Given the description of an element on the screen output the (x, y) to click on. 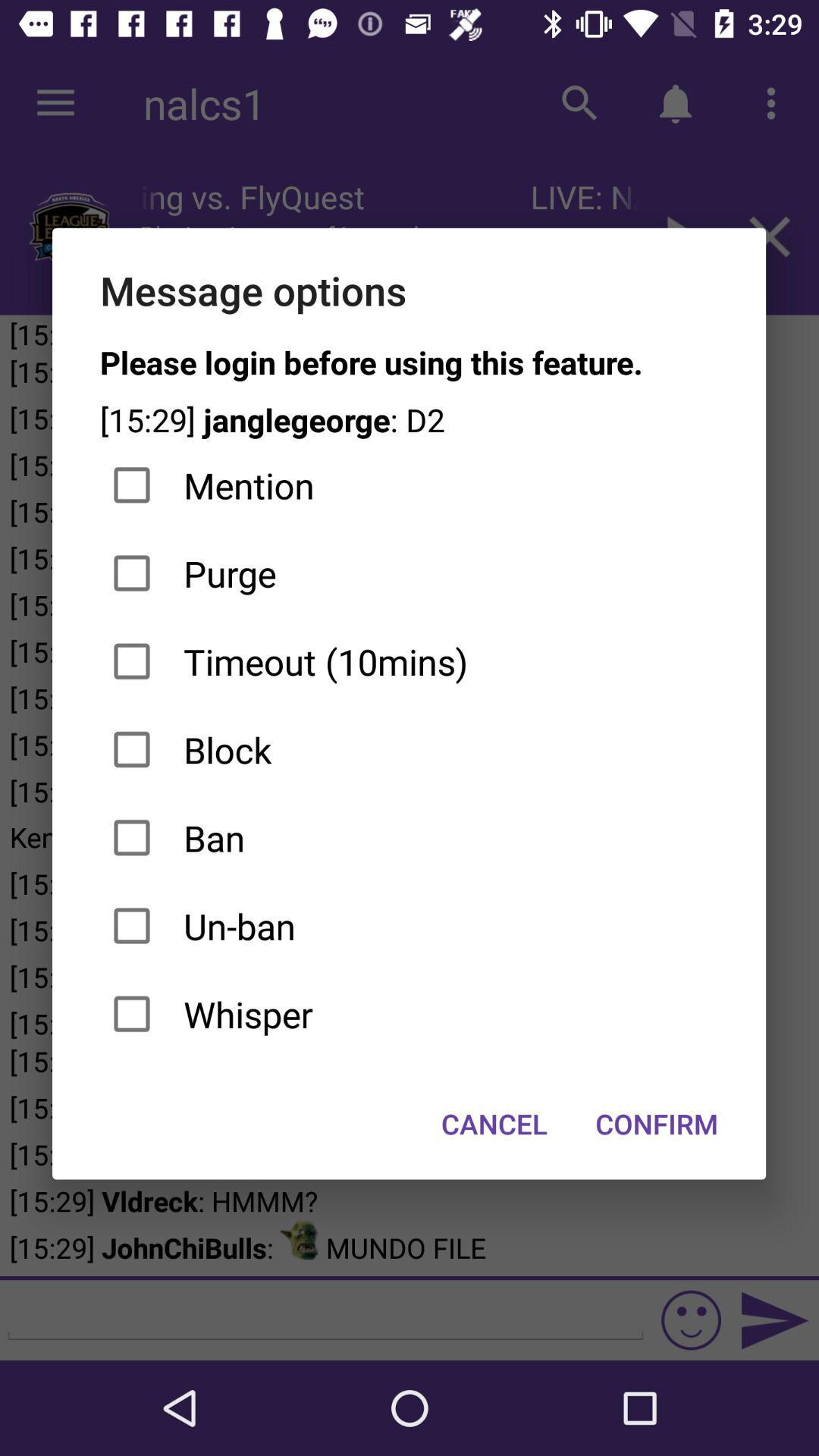
select item above whisper (409, 926)
